Given the description of an element on the screen output the (x, y) to click on. 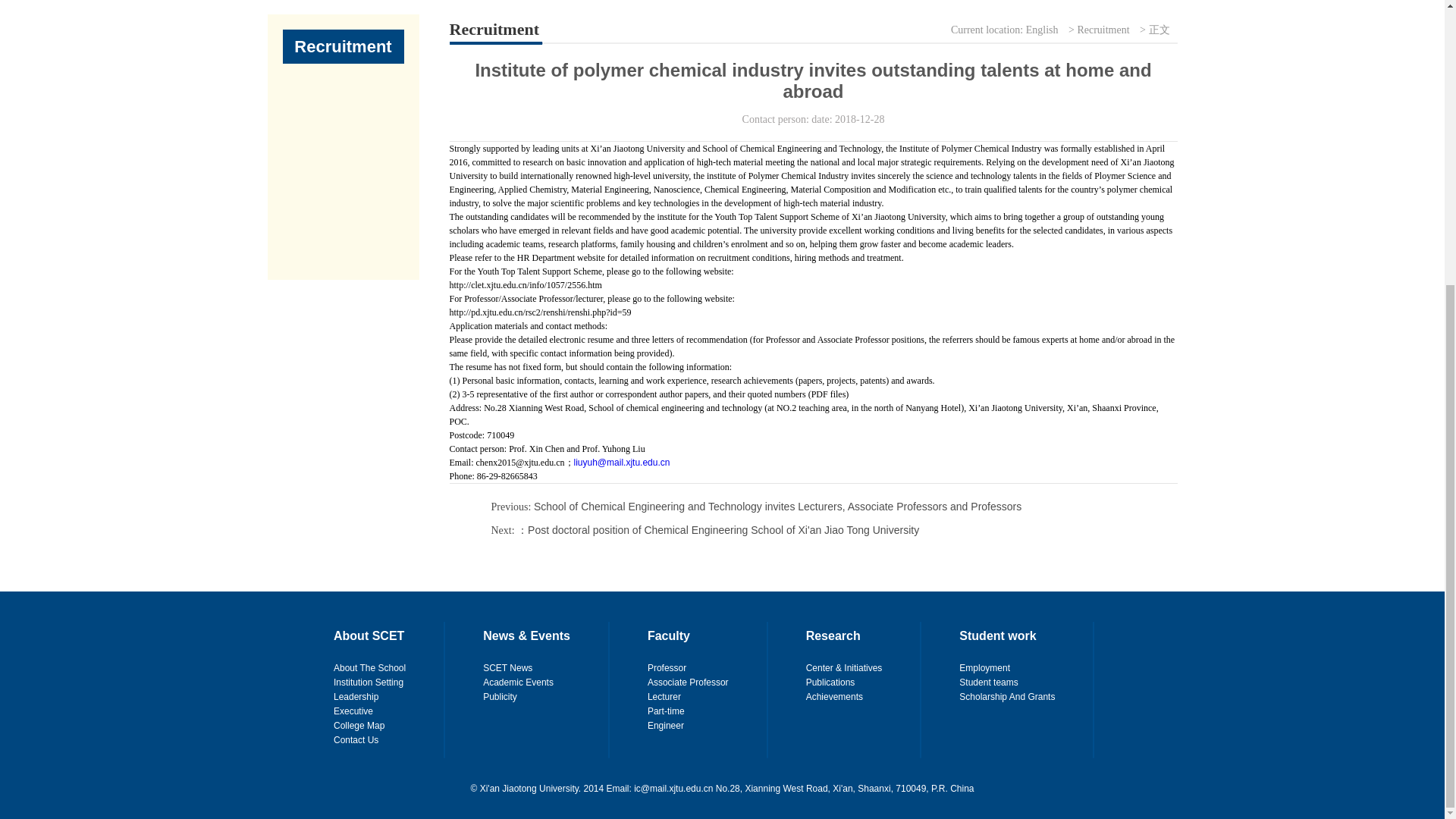
Recruitment (1103, 29)
Executive (352, 710)
English (1042, 29)
College Map (358, 725)
About The School (369, 667)
Leadership (355, 696)
Institution Setting (368, 682)
